Given the description of an element on the screen output the (x, y) to click on. 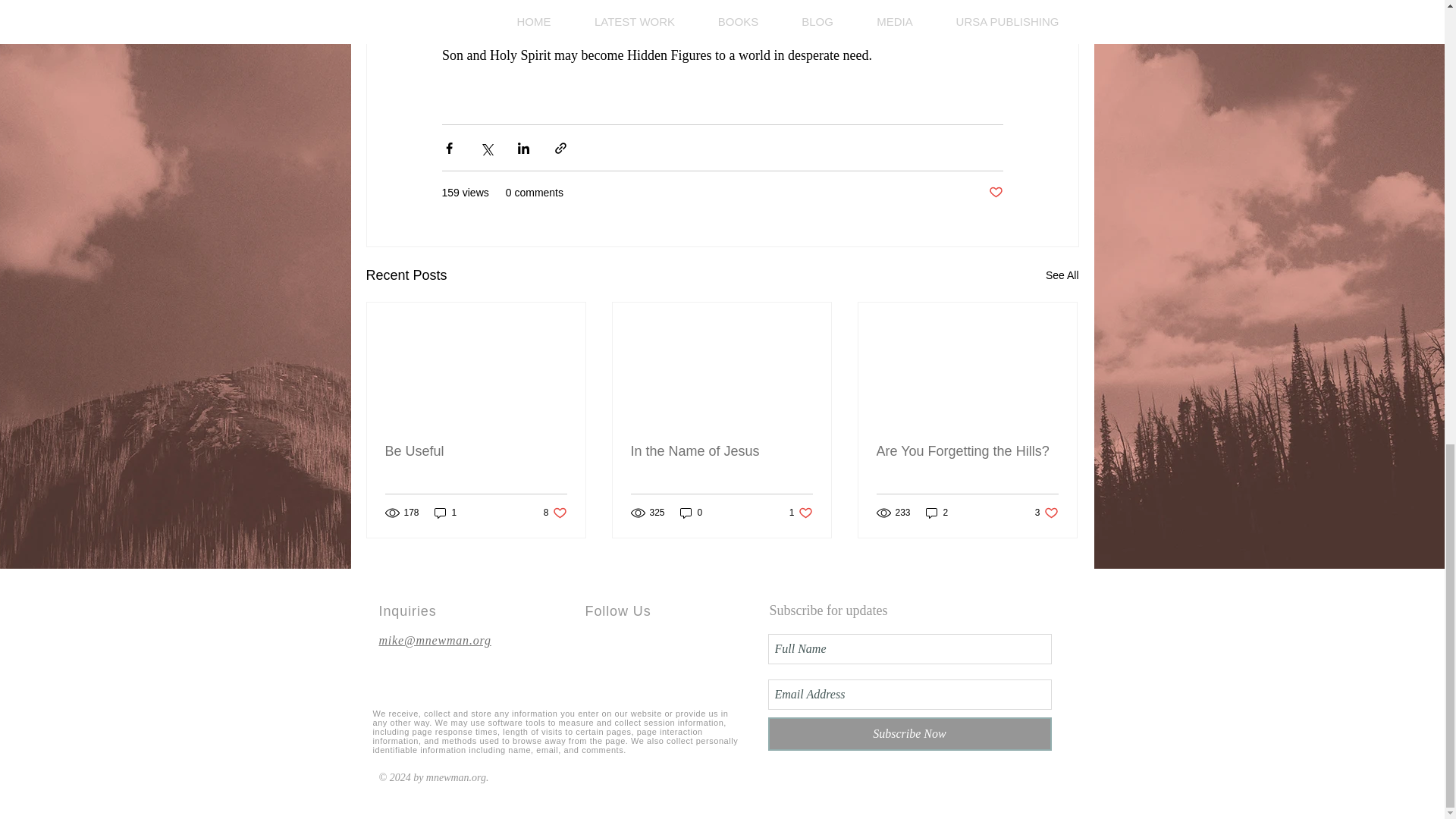
Post not marked as liked (995, 192)
1 (1046, 513)
Subscribe Now (445, 513)
Be Useful (909, 734)
0 (800, 513)
Are You Forgetting the Hills? (476, 451)
2 (555, 513)
See All (691, 513)
In the Name of Jesus (967, 451)
